Given the description of an element on the screen output the (x, y) to click on. 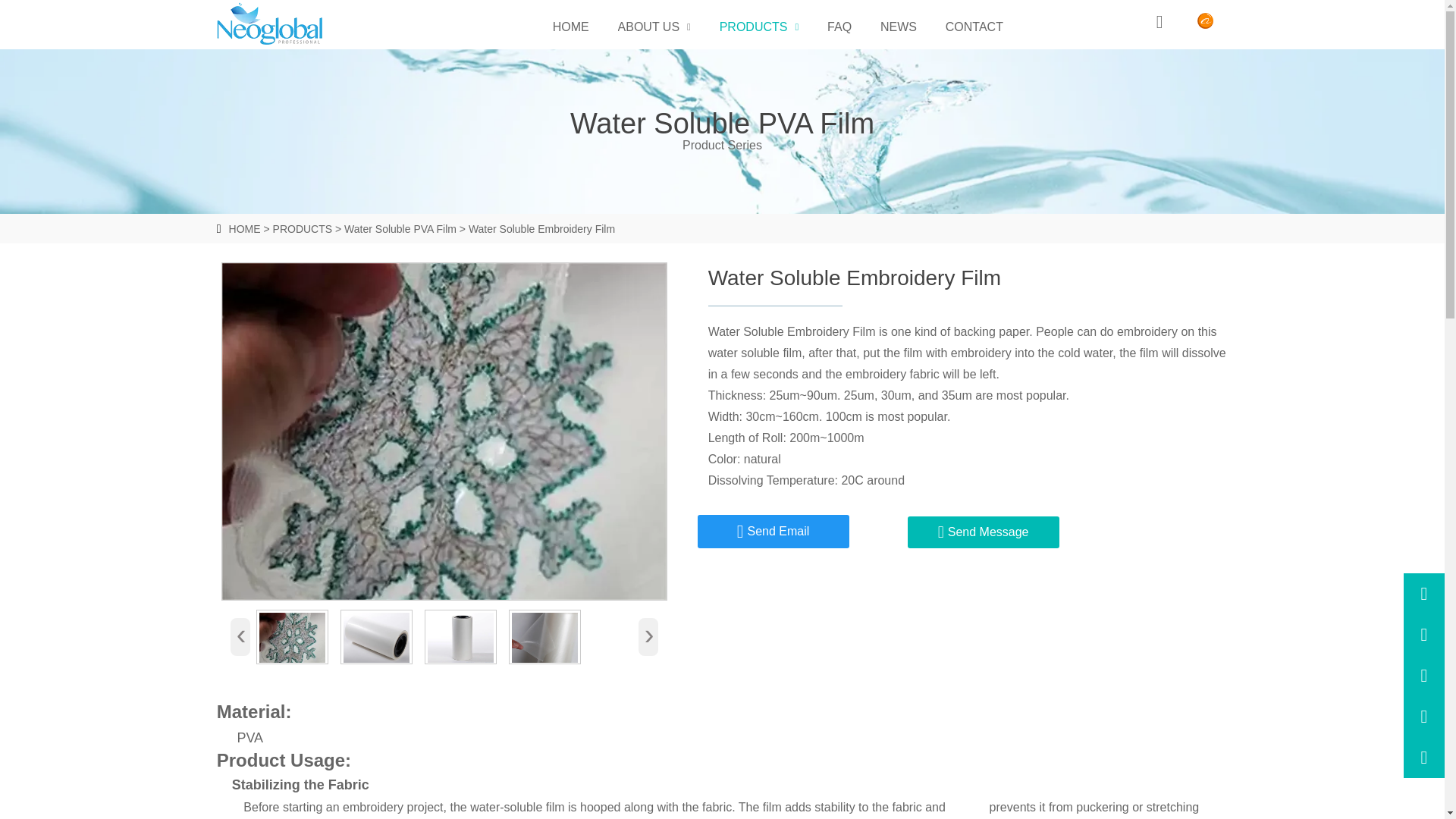
NEWS (898, 26)
Water Soluble Embroidery Film (541, 228)
FAQ (839, 26)
HOME (571, 26)
Water Soluble Embroidery Film (292, 637)
Water Soluble Embroidery Film (544, 637)
Water Soluble PVA Film (400, 228)
HOME (244, 228)
PRODUCTS (303, 228)
Water Soluble Embroidery Film (460, 637)
Water Soluble Embroidery Film (376, 637)
CONTACT (973, 26)
